Given the description of an element on the screen output the (x, y) to click on. 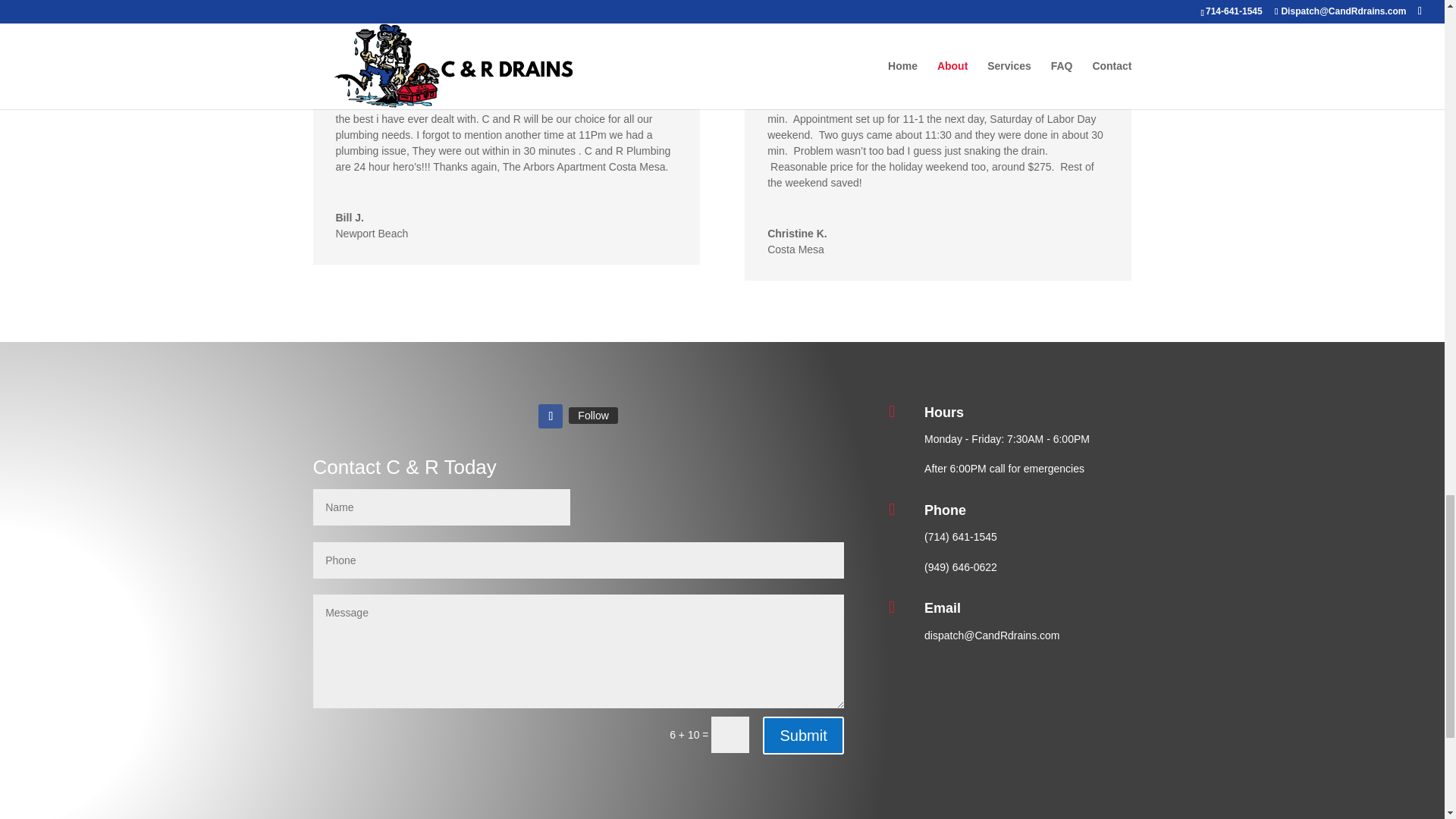
Facebook (593, 415)
Follow on Facebook (550, 416)
Submit (802, 735)
Follow (593, 415)
Only numbers allowed. (578, 559)
